Given the description of an element on the screen output the (x, y) to click on. 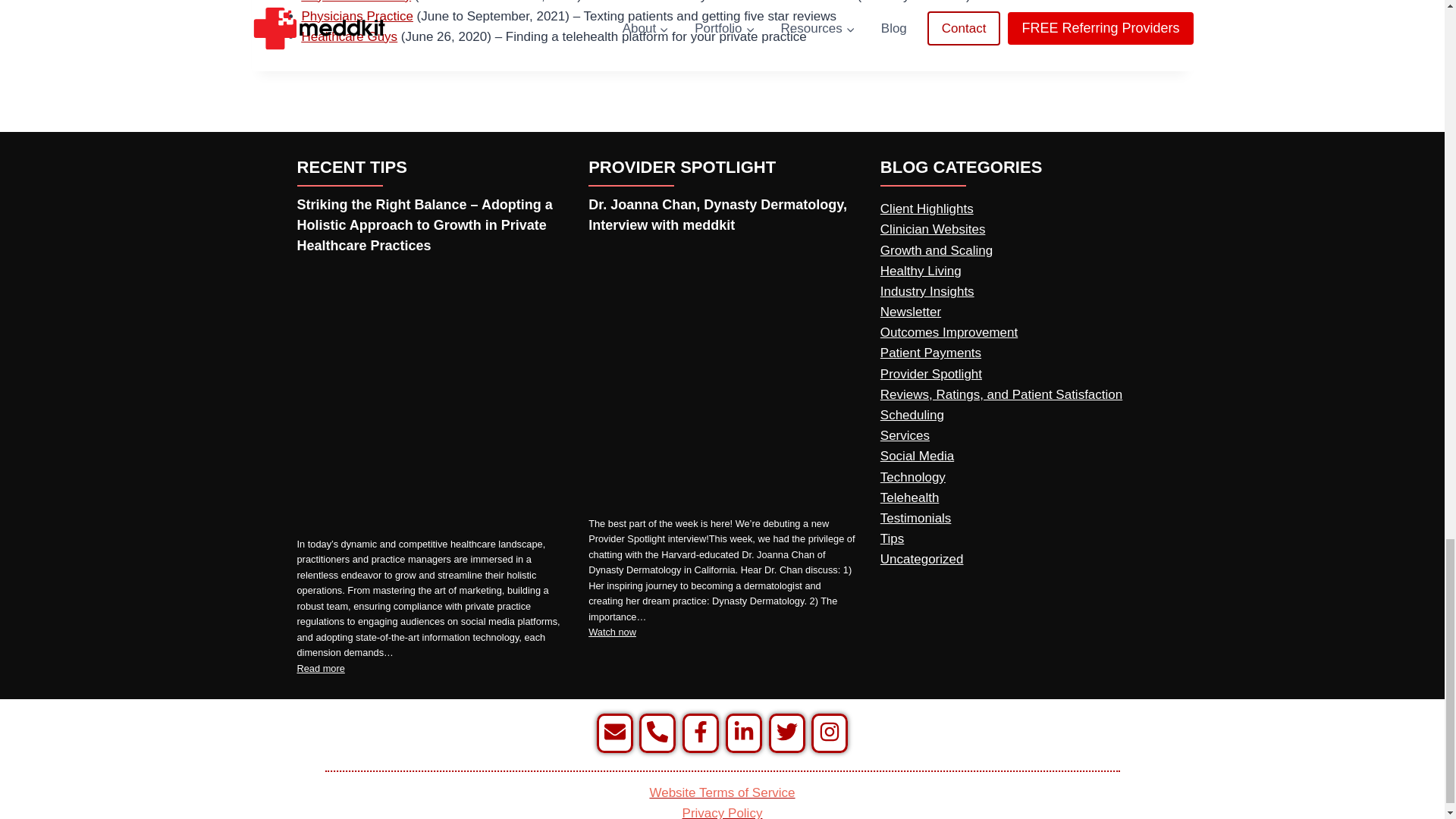
Physicians Practice (357, 16)
Read more (321, 668)
Healthcare Guys (349, 36)
